Given the description of an element on the screen output the (x, y) to click on. 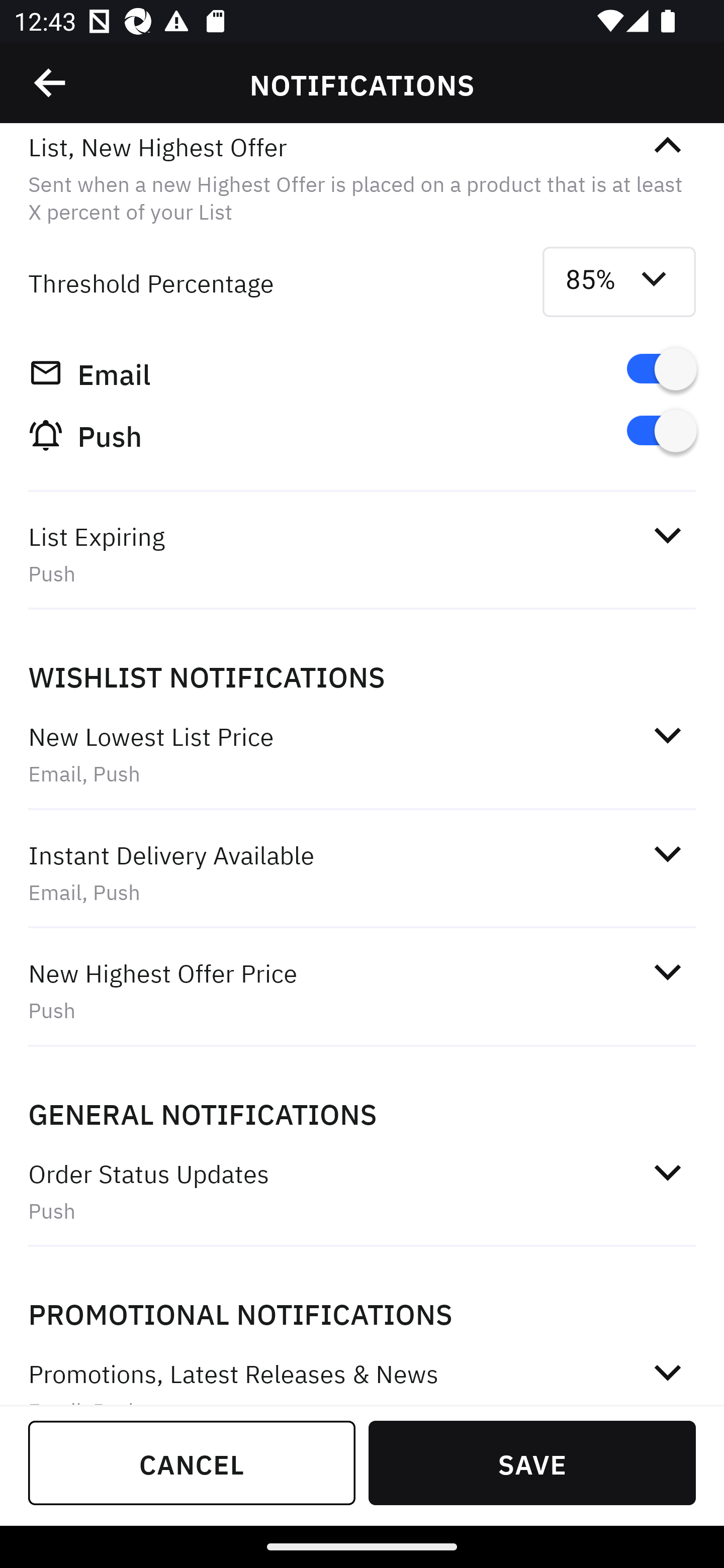
 (50, 83)
 (667, 145)
85%  (619, 282)
List Expiring  Push (361, 554)
 (667, 535)
New Lowest List Price  Email, Push (361, 753)
 (667, 734)
Instant Delivery Available  Email, Push (361, 872)
 (667, 853)
New Highest Offer Price  Push (361, 990)
 (667, 971)
Order Status Updates  Push (361, 1190)
 (667, 1171)
Promotions, Latest Releases & News  Email, Push (361, 1368)
 (667, 1372)
CANCEL (191, 1462)
SAVE (531, 1462)
